Given the description of an element on the screen output the (x, y) to click on. 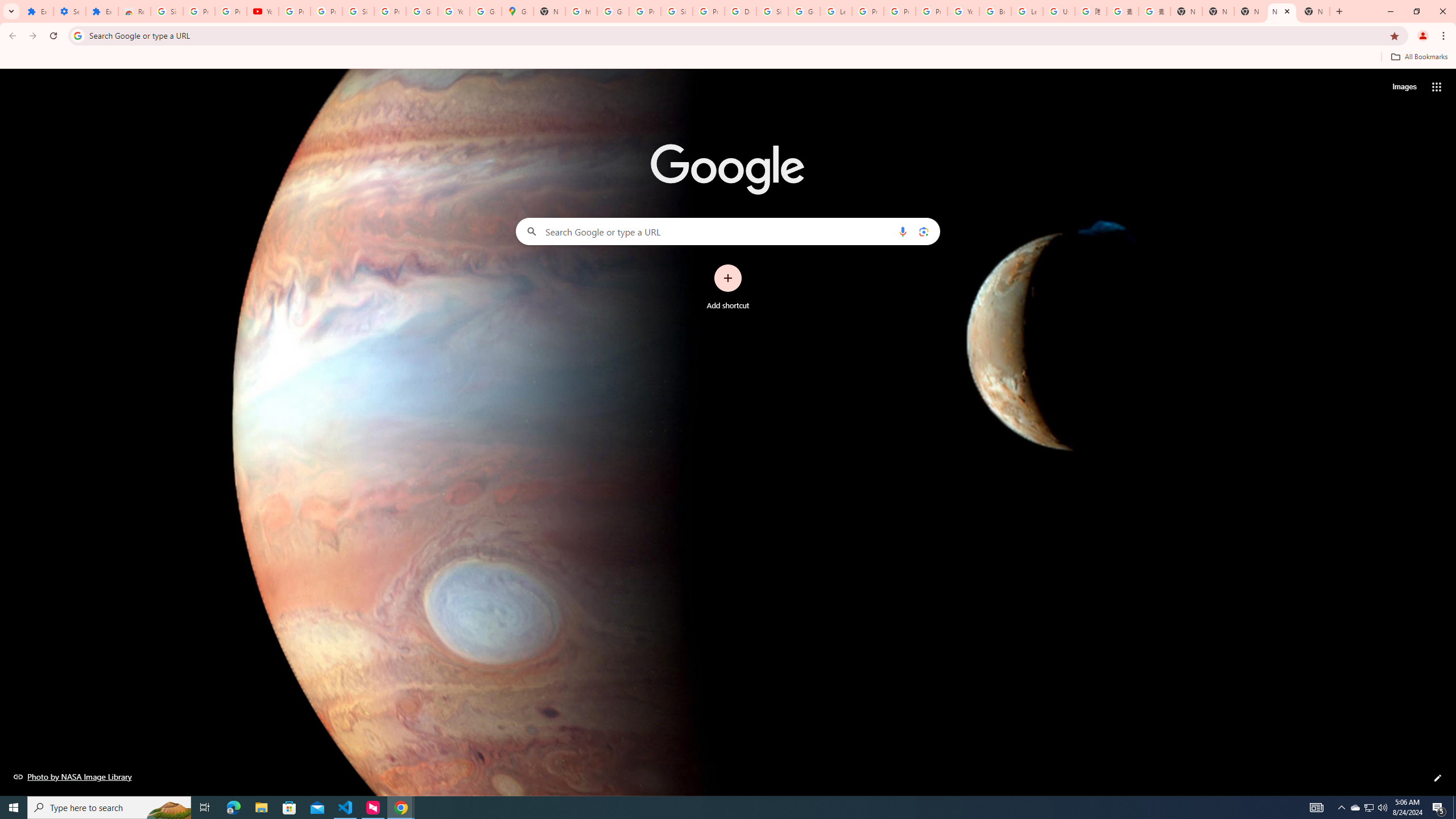
Privacy Help Center - Policies Help (868, 11)
